Given the description of an element on the screen output the (x, y) to click on. 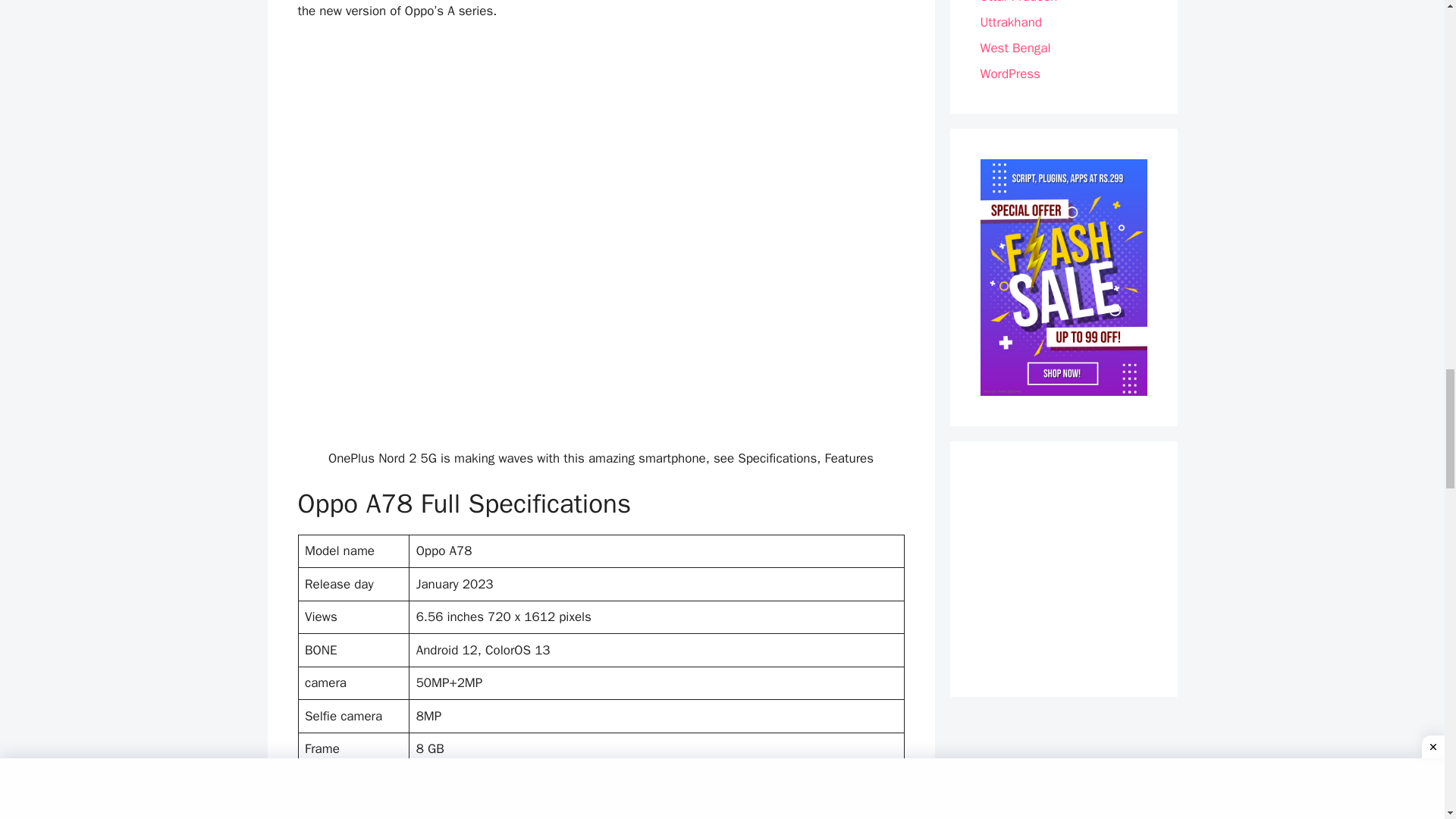
Advertisement (600, 341)
